Given the description of an element on the screen output the (x, y) to click on. 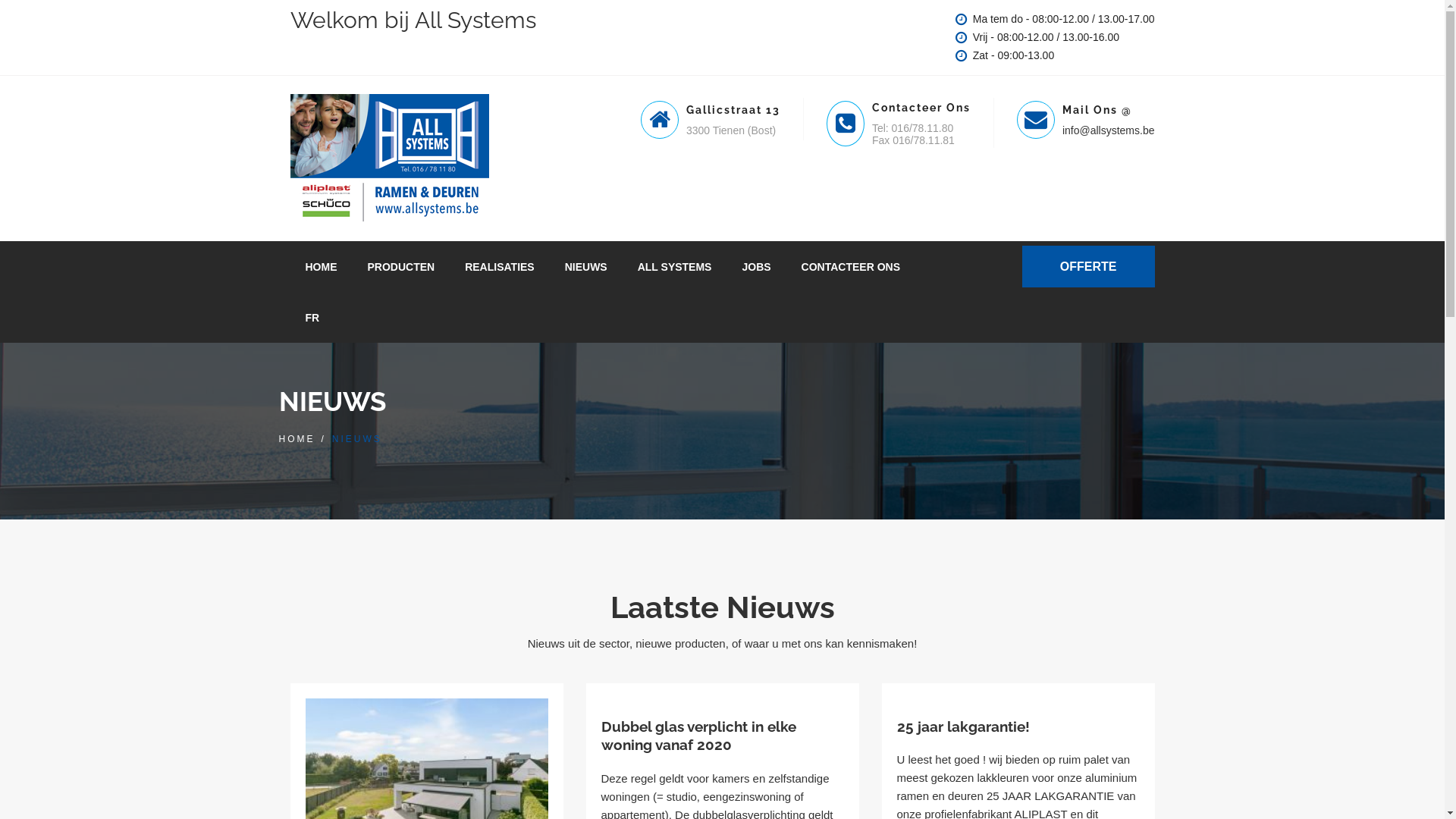
CONTACTEER ONS Element type: text (850, 266)
Dubbel glas verplicht in elke woning vanaf 2020 Element type: text (697, 735)
PRODUCTEN Element type: text (400, 266)
HOME Element type: text (320, 266)
25 jaar lakgarantie! Element type: text (962, 725)
OFFERTE Element type: text (1088, 266)
JOBS Element type: text (755, 266)
info@allsystems.be Element type: text (1108, 130)
ALL SYSTEMS Element type: text (674, 266)
FR Element type: text (311, 316)
REALISATIES Element type: text (499, 266)
NIEUWS Element type: text (585, 266)
HOME Element type: text (300, 438)
